Given the description of an element on the screen output the (x, y) to click on. 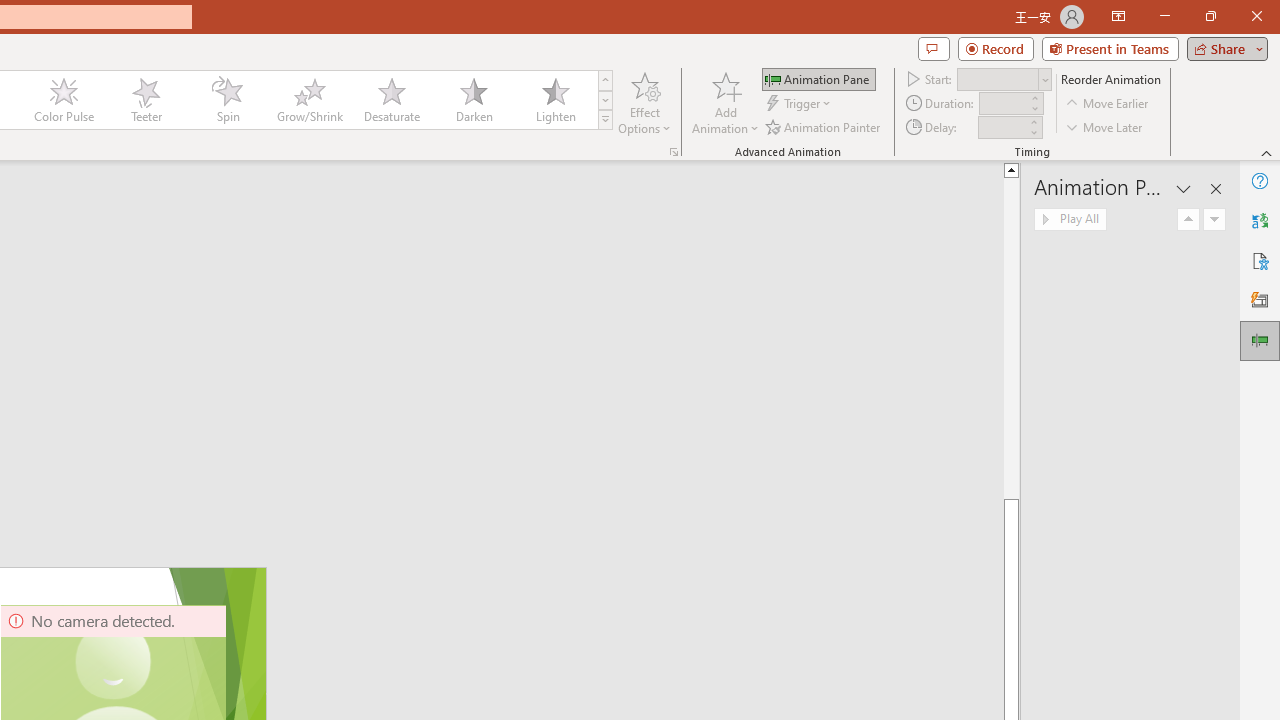
Move Up (1188, 219)
